Given the description of an element on the screen output the (x, y) to click on. 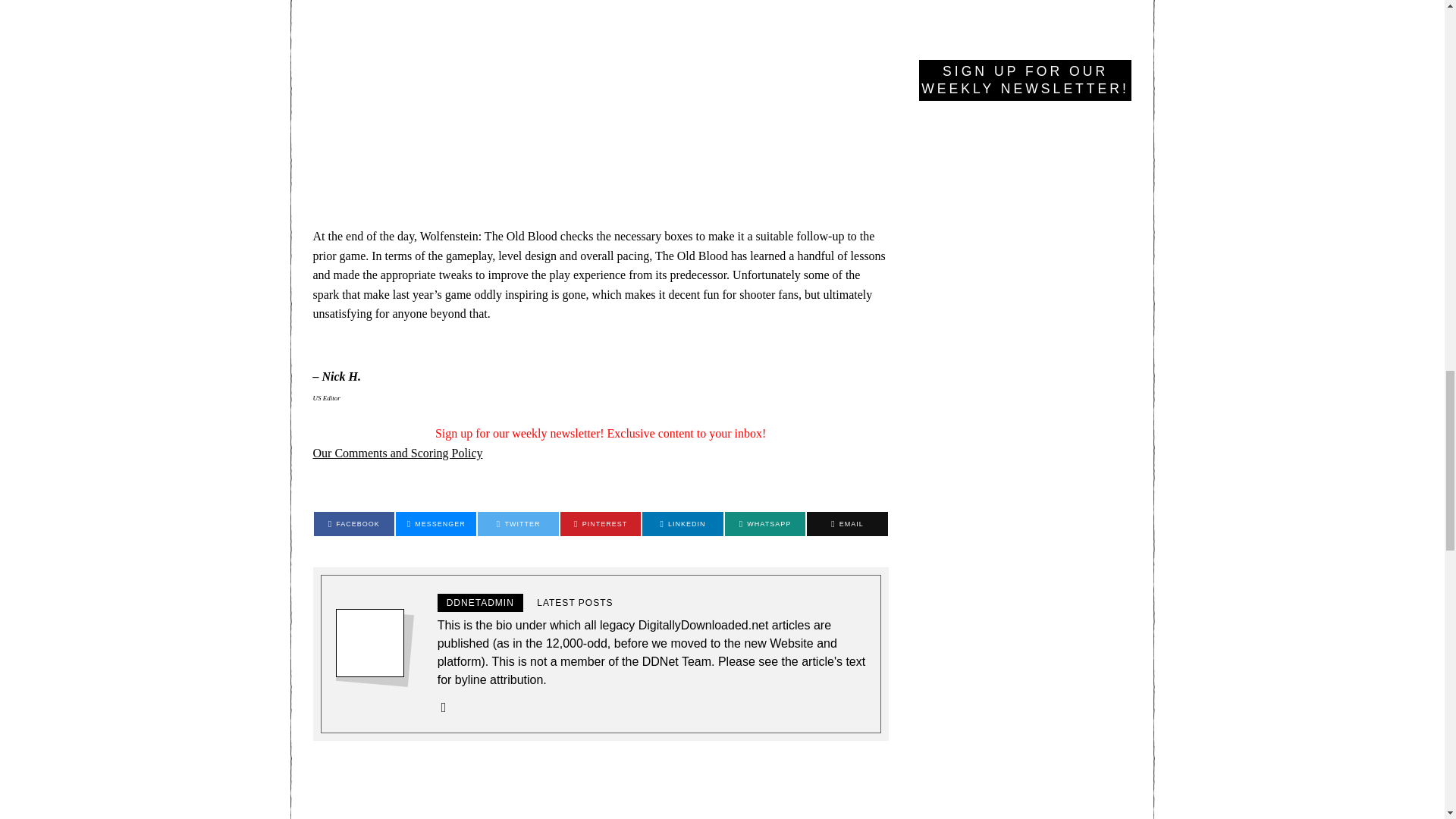
Wolfenstein: The Old Blood (600, 113)
